Given the description of an element on the screen output the (x, y) to click on. 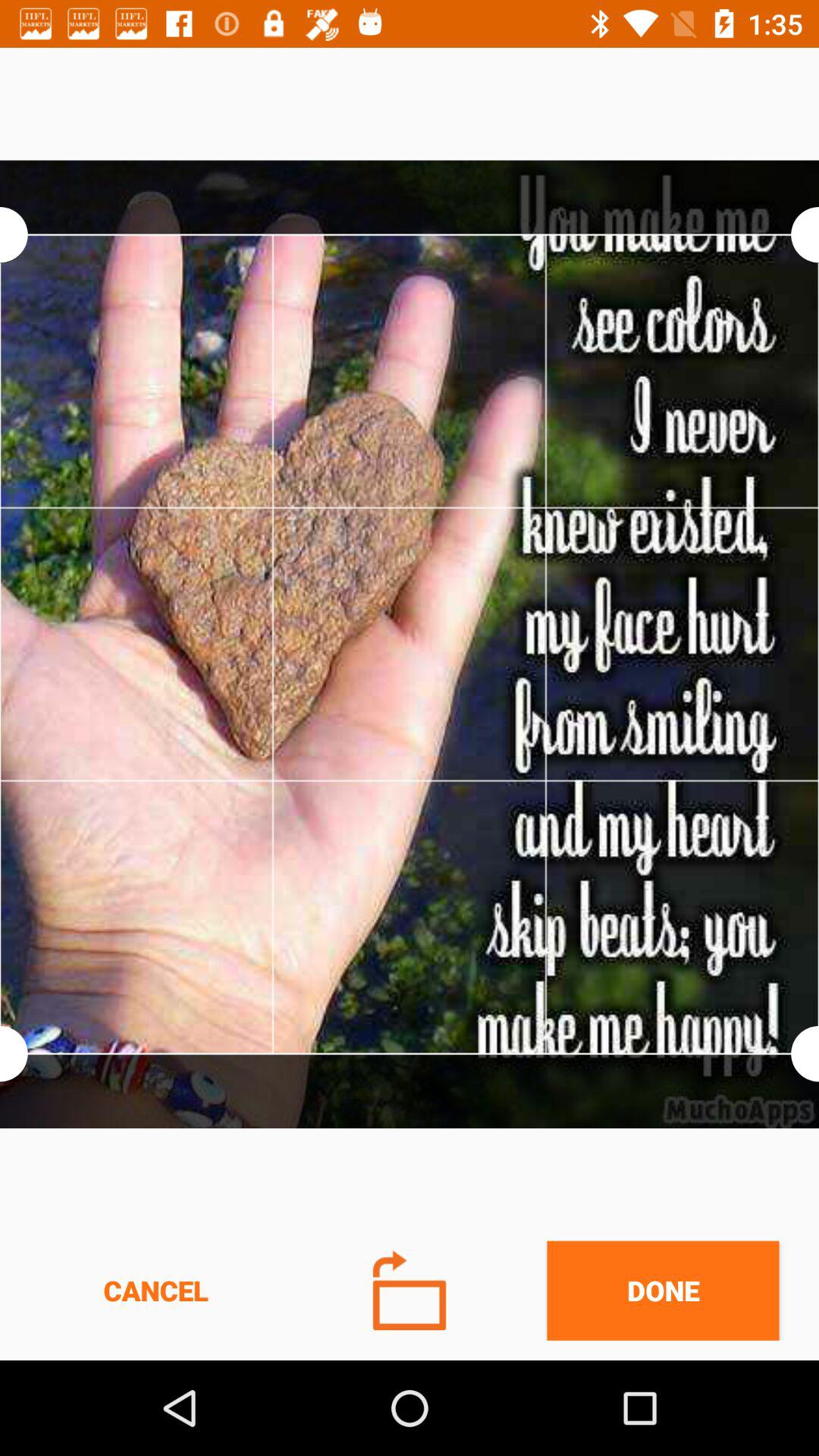
launch cancel icon (155, 1290)
